Given the description of an element on the screen output the (x, y) to click on. 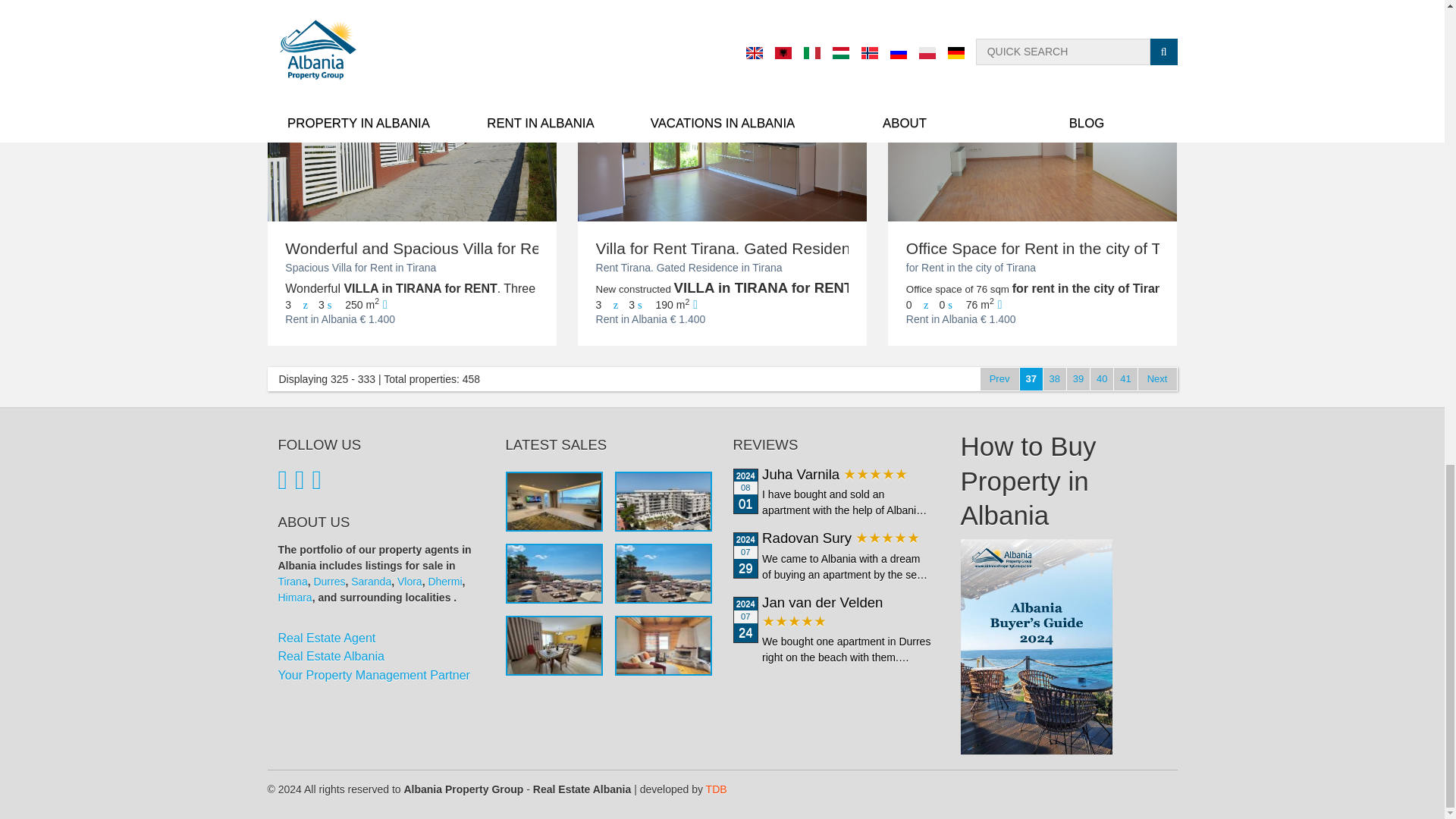
Property For Sale in Durres (329, 581)
Property For Sale in Sarande (370, 581)
Property For Sale in Vlore (409, 581)
Property For Sale in Tirana (292, 581)
Property For Sale in Himare (294, 597)
Property For Sale in Dhermi (444, 581)
